Given the description of an element on the screen output the (x, y) to click on. 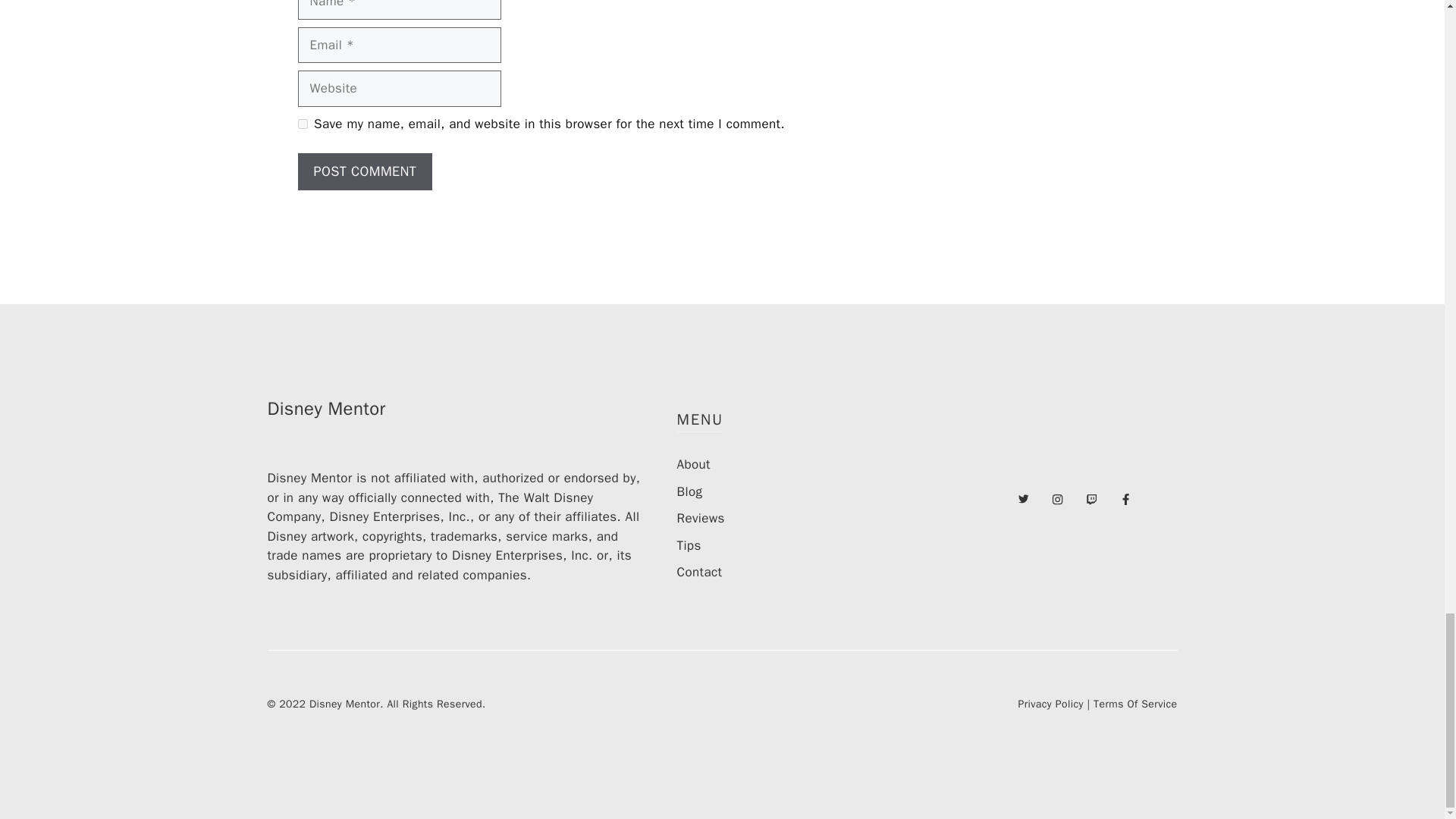
Tips (688, 545)
Reviews (700, 518)
Privacy Policy (1050, 703)
About (693, 464)
yes (302, 123)
Post Comment (364, 171)
Blog (689, 491)
Contact (699, 571)
Post Comment (364, 171)
Terms Of Service (1134, 703)
